Given the description of an element on the screen output the (x, y) to click on. 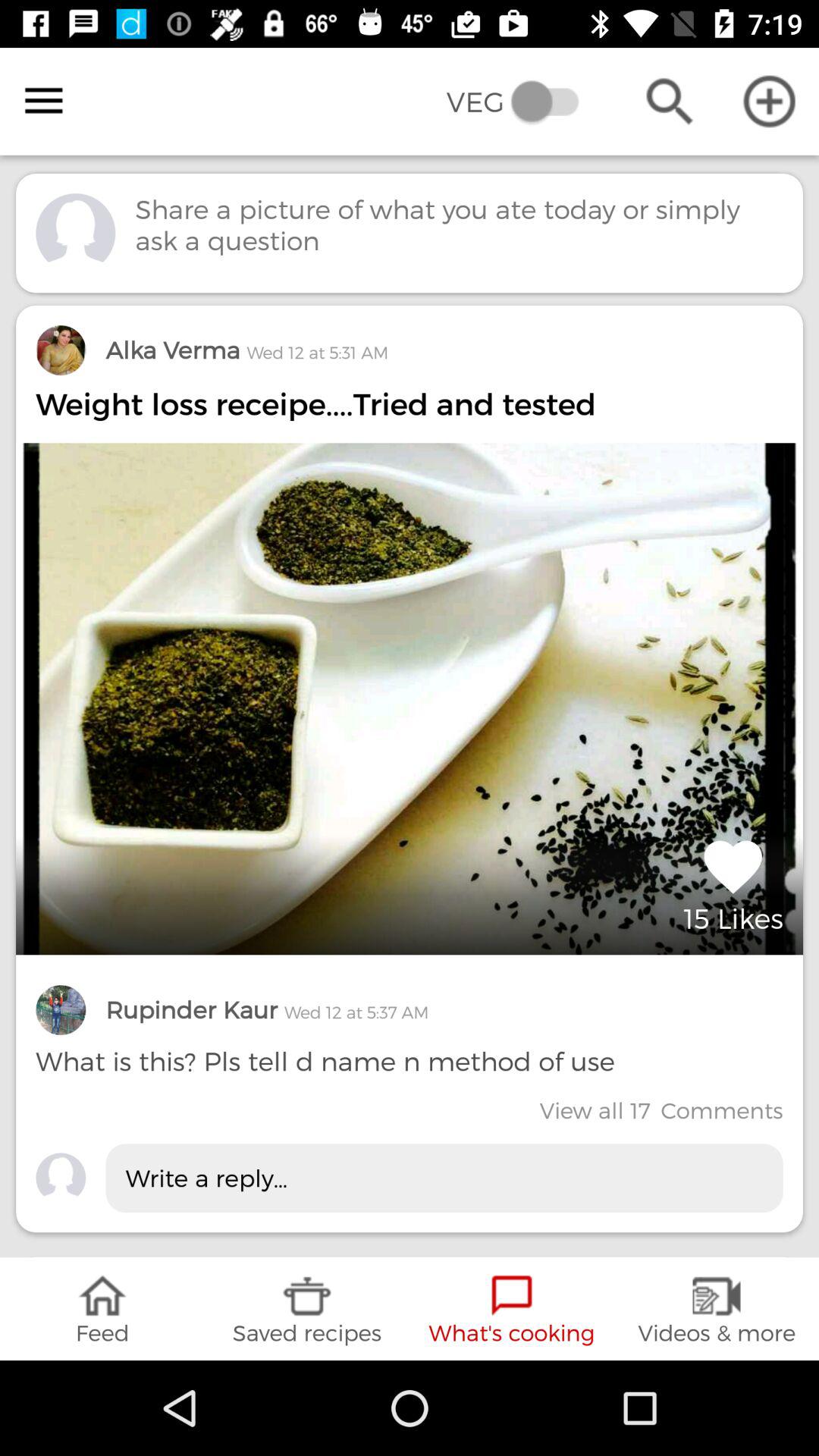
click the icon to the right of veg item (669, 101)
